Given the description of an element on the screen output the (x, y) to click on. 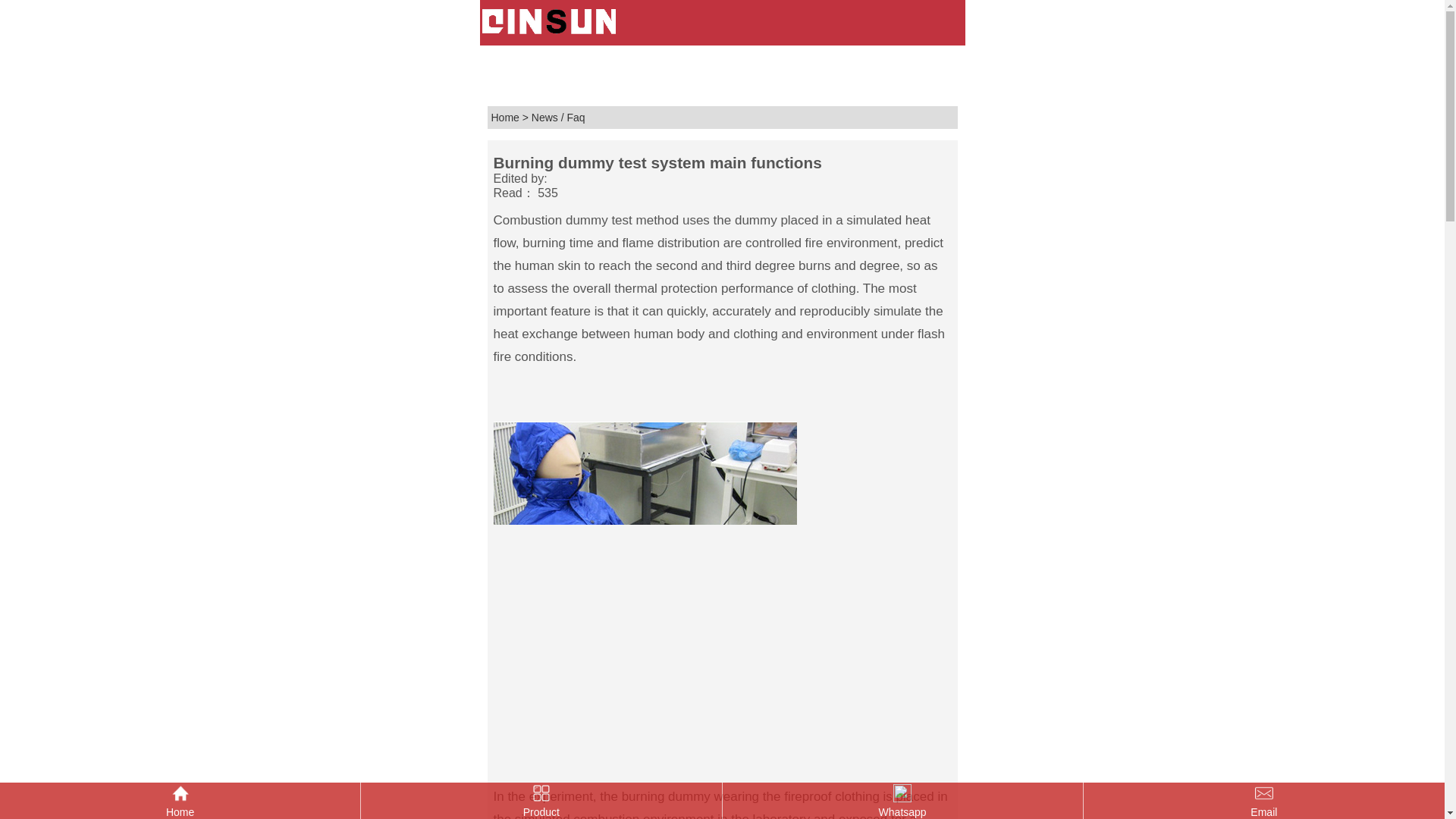
Home (179, 800)
